Given the description of an element on the screen output the (x, y) to click on. 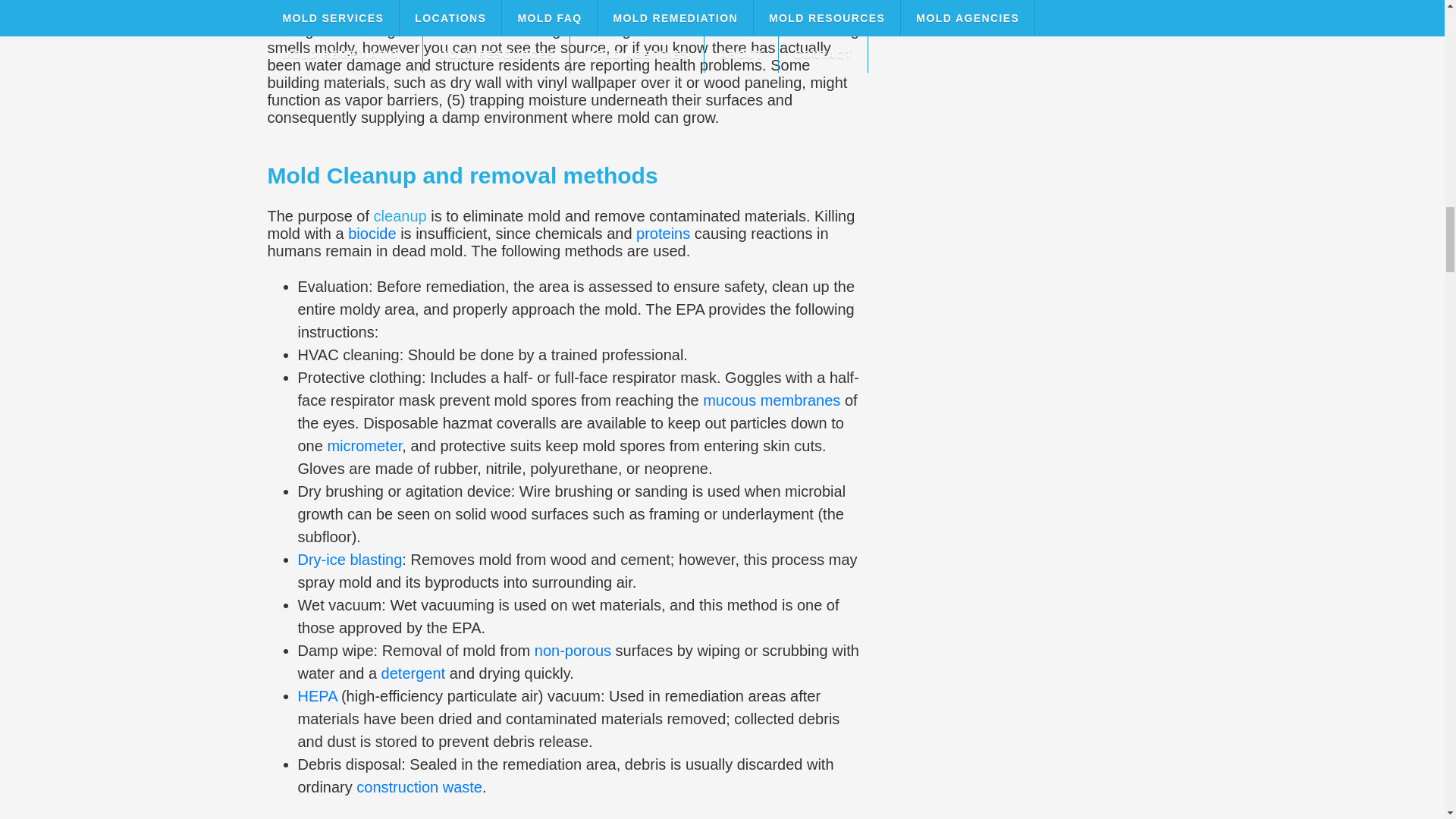
Biocide (371, 233)
Construction waste (418, 786)
Mucous membrane (771, 400)
Protein (663, 233)
Micrometre (363, 445)
Dry-ice blasting (349, 559)
Porosity (572, 650)
HEPA (316, 695)
Detergent (413, 673)
